Given the description of an element on the screen output the (x, y) to click on. 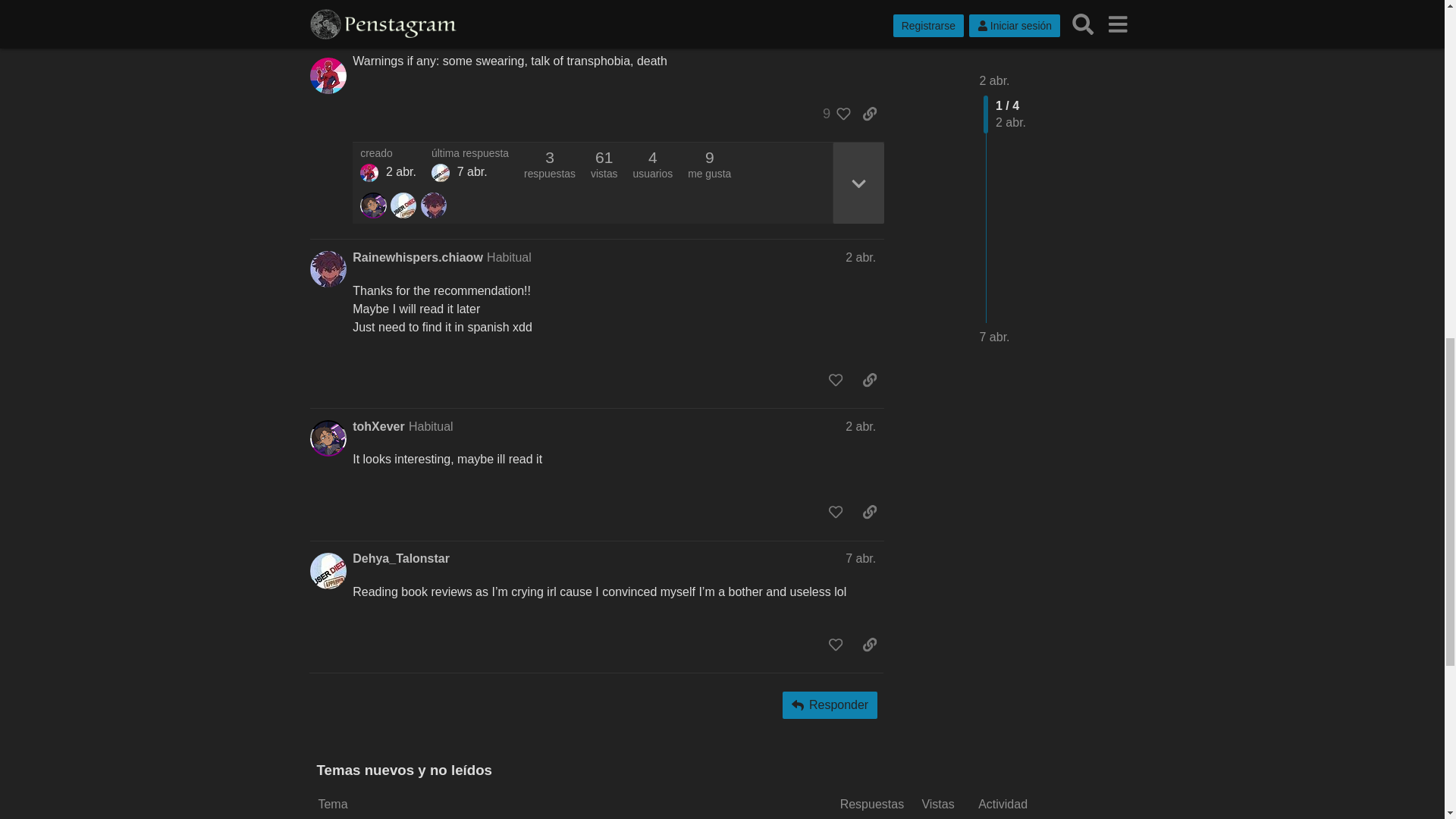
Rainewhispers.chiaow (417, 257)
tohXever (378, 426)
2 abr. 2024 12:27 (400, 171)
Someone, call me whatever you want. Just make up a name (439, 172)
9 (832, 113)
2 abr. (860, 256)
Caelum (368, 172)
